Given the description of an element on the screen output the (x, y) to click on. 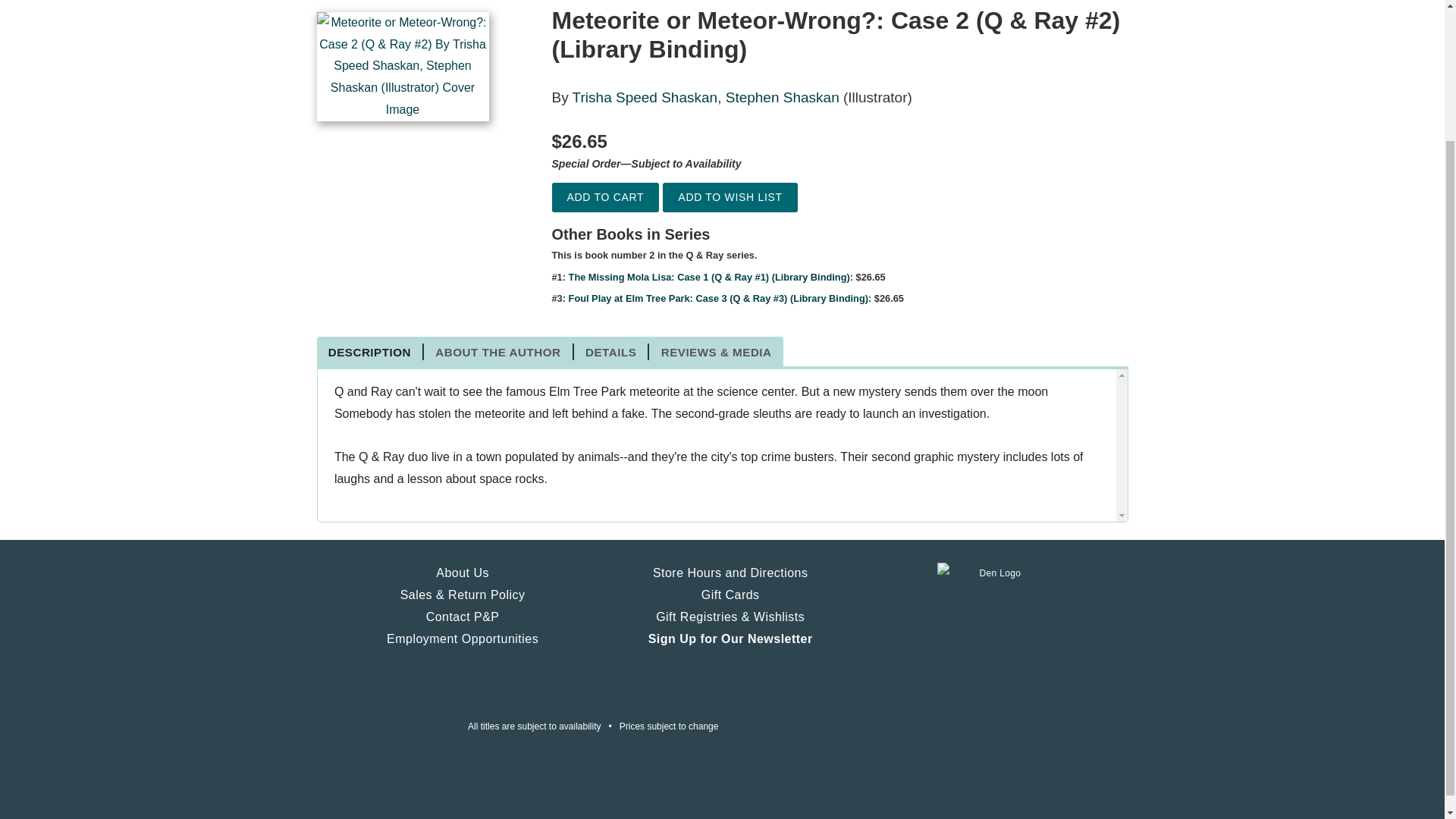
Add to Cart (605, 197)
Add to Wish List (729, 197)
